Given the description of an element on the screen output the (x, y) to click on. 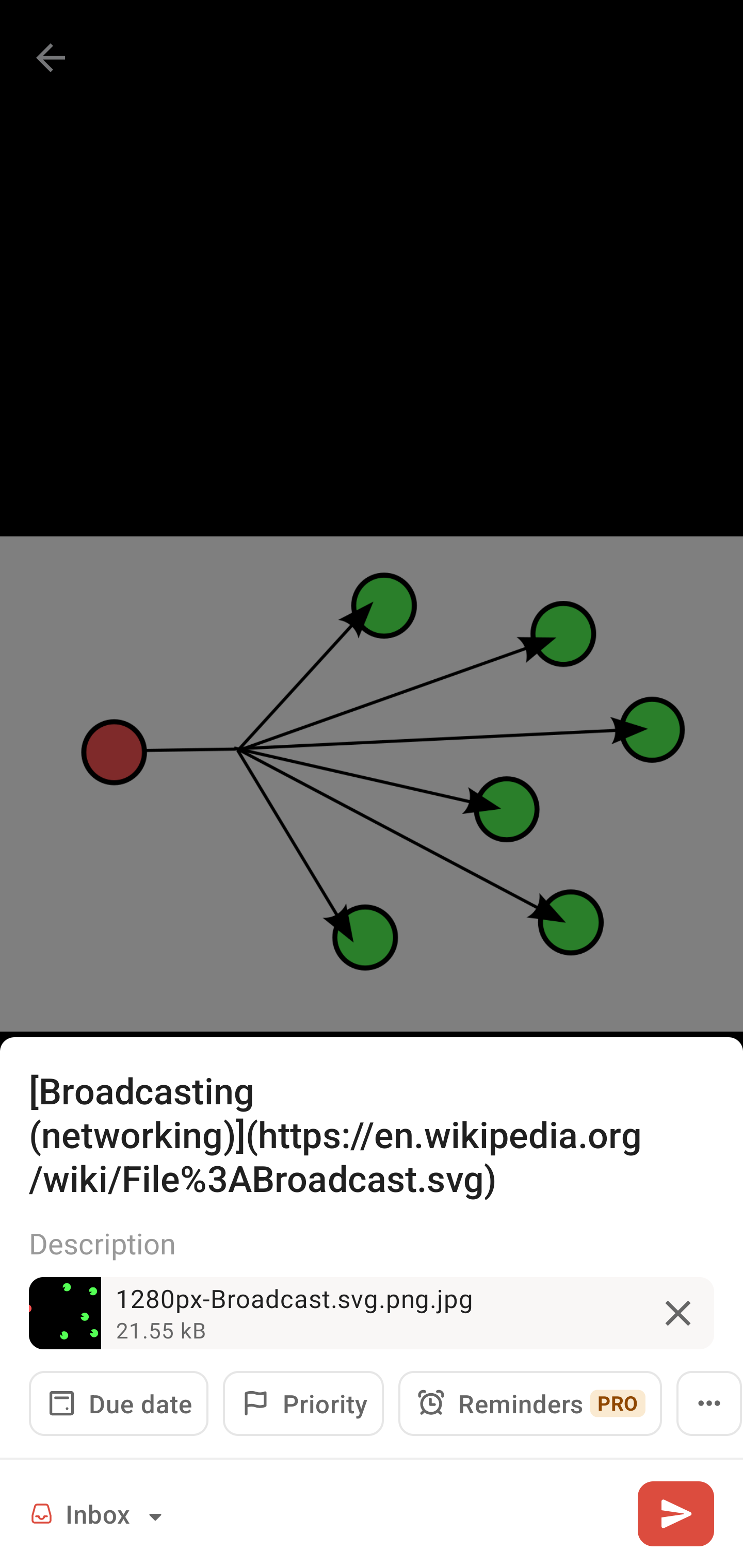
Description (371, 1242)
Remove attachment (677, 1313)
Due date Date (118, 1403)
Priority (303, 1403)
Reminders PRO Reminders (530, 1403)
Open menu (709, 1403)
Inbox Project (99, 1513)
Add (675, 1513)
